Given the description of an element on the screen output the (x, y) to click on. 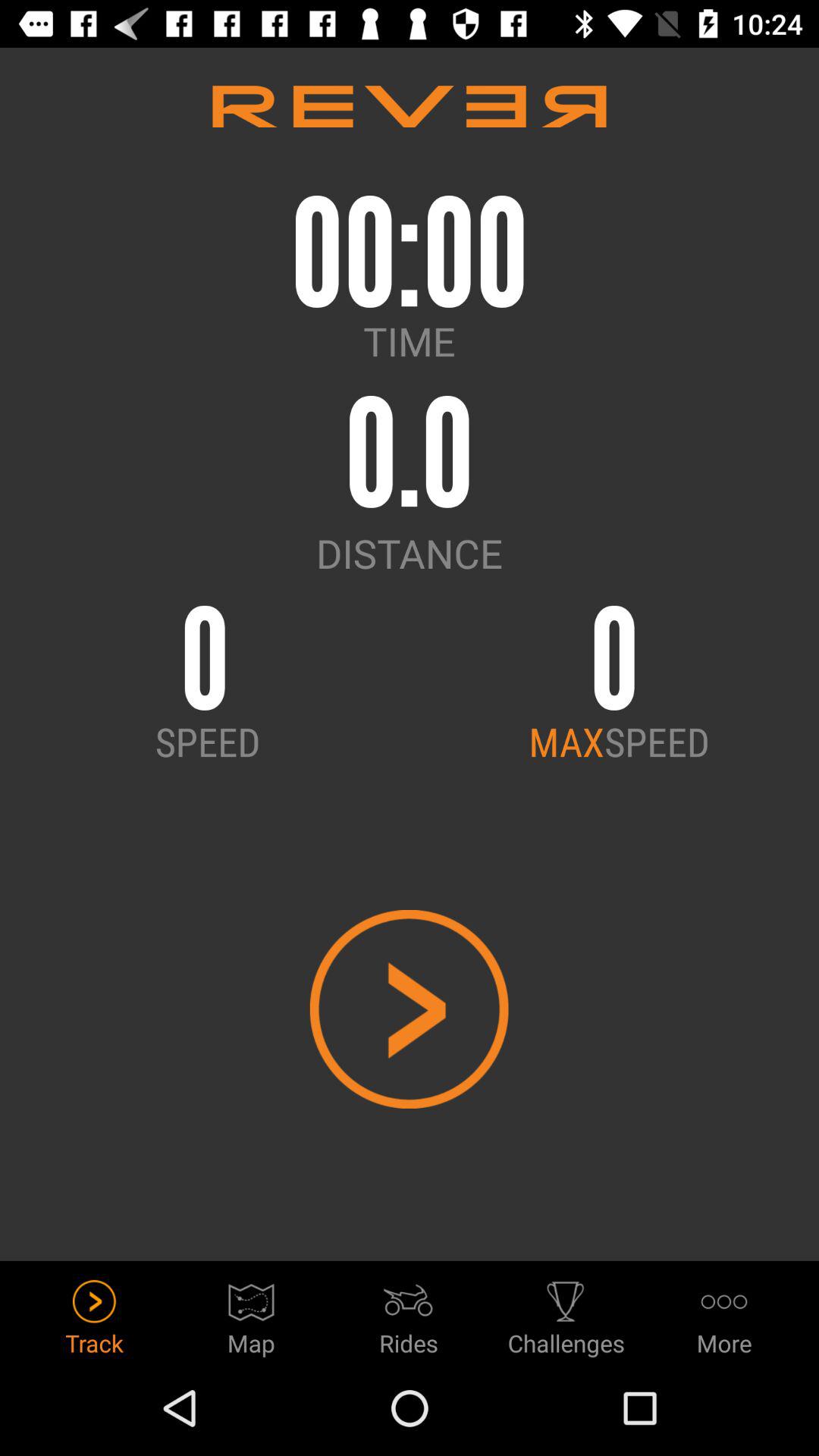
scroll to the map icon (251, 1313)
